Given the description of an element on the screen output the (x, y) to click on. 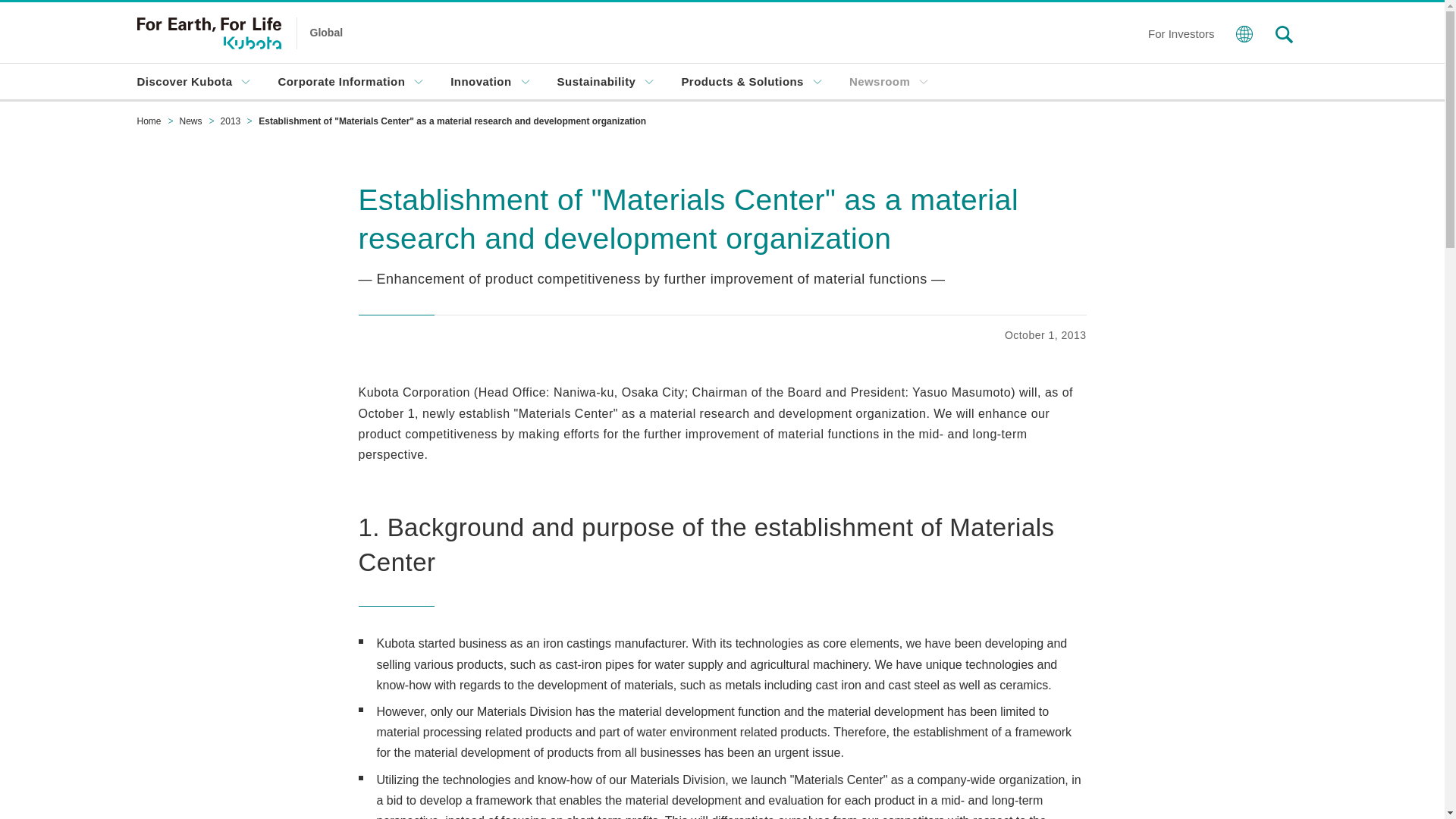
For Investors (1181, 32)
Sustainability (605, 81)
Discover Kubota (193, 81)
Corporate Information (350, 81)
Innovation (489, 81)
